Given the description of an element on the screen output the (x, y) to click on. 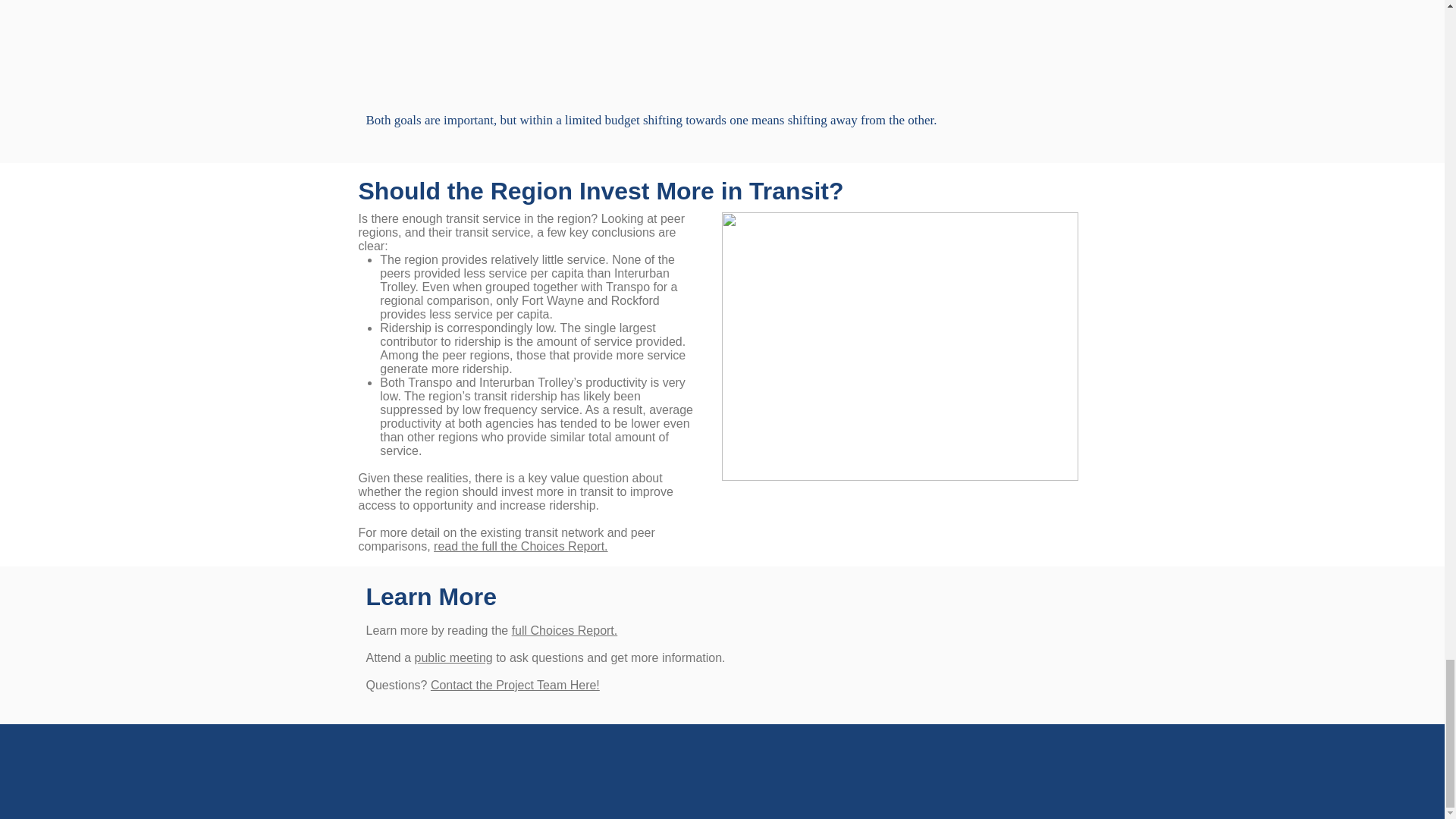
full Choices Report. (564, 630)
public meeting (453, 657)
High Ridership Network Design (485, 48)
read the full the Choices Report. (520, 545)
Service Investment.png (900, 346)
Contact the Project Team Here! (514, 684)
